Given the description of an element on the screen output the (x, y) to click on. 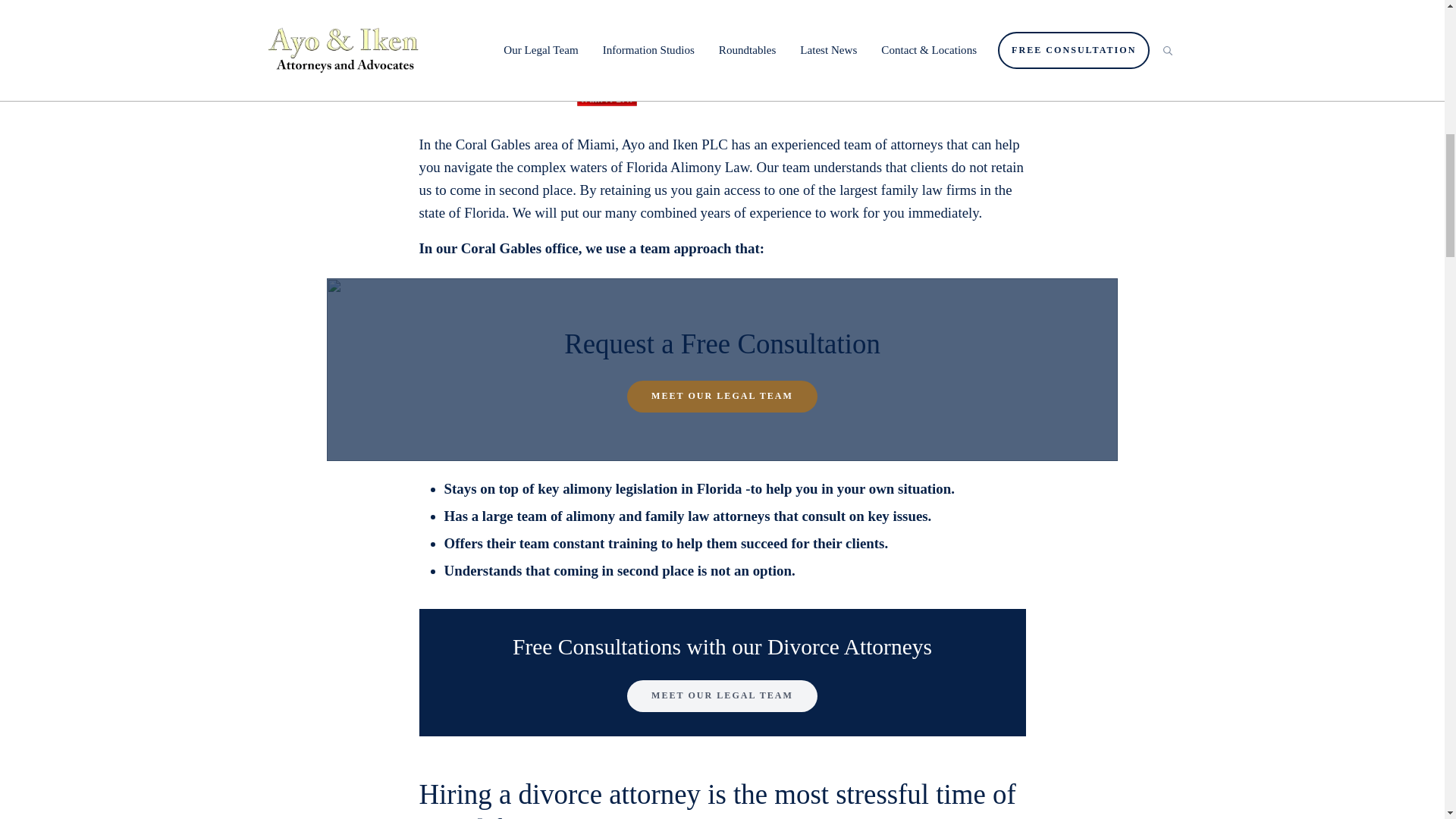
wfts (839, 59)
avvo (995, 59)
super-lawyers (917, 60)
Orlando-Sentinel-logo (684, 59)
